Given the description of an element on the screen output the (x, y) to click on. 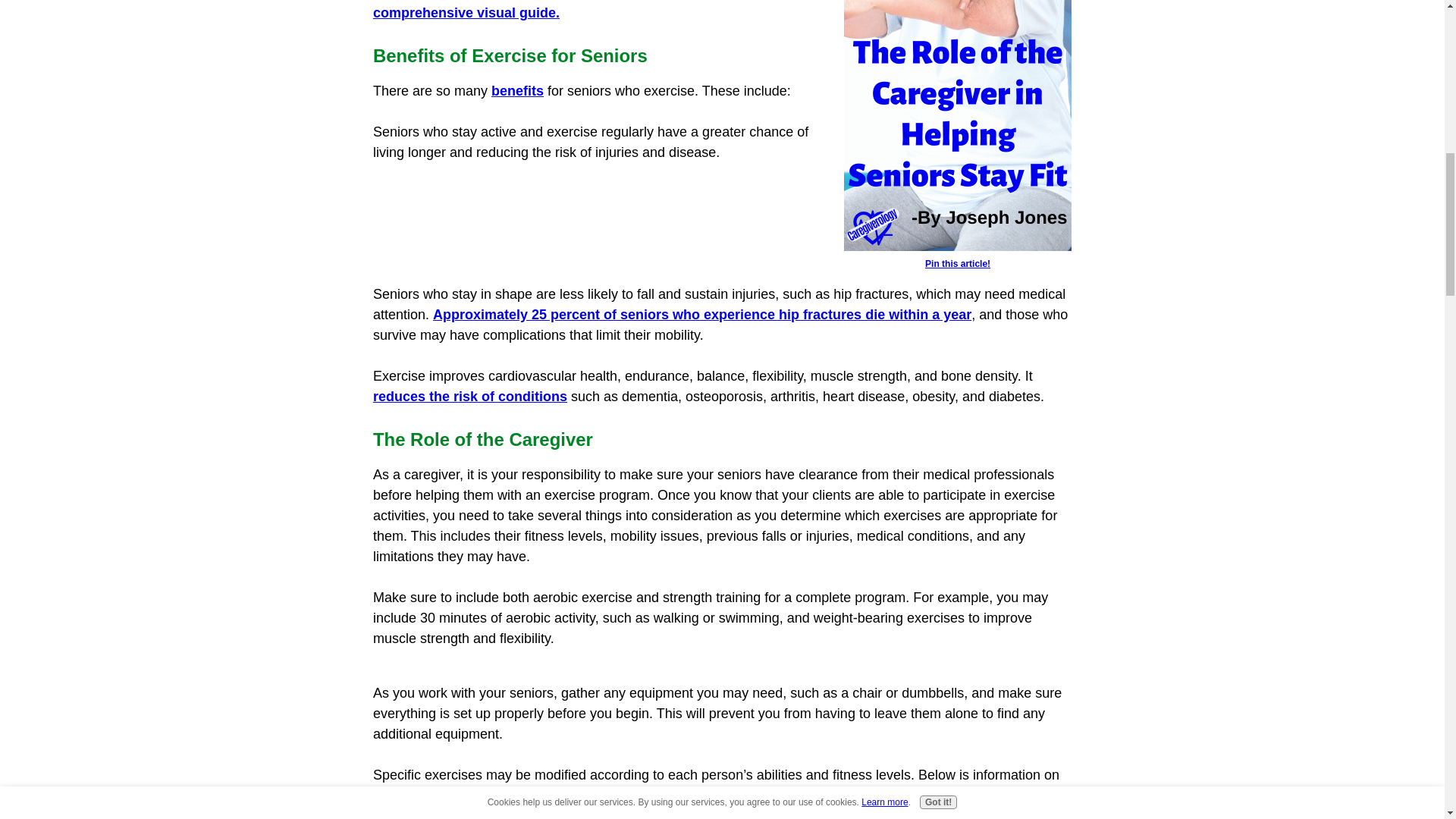
reduces the risk of conditions (469, 396)
benefits (517, 90)
Click here for my comprehensive visual guide. (555, 10)
Pin this article! (957, 255)
The Role of the Caregiver in Helping Seniors Stay Fit (957, 125)
